Given the description of an element on the screen output the (x, y) to click on. 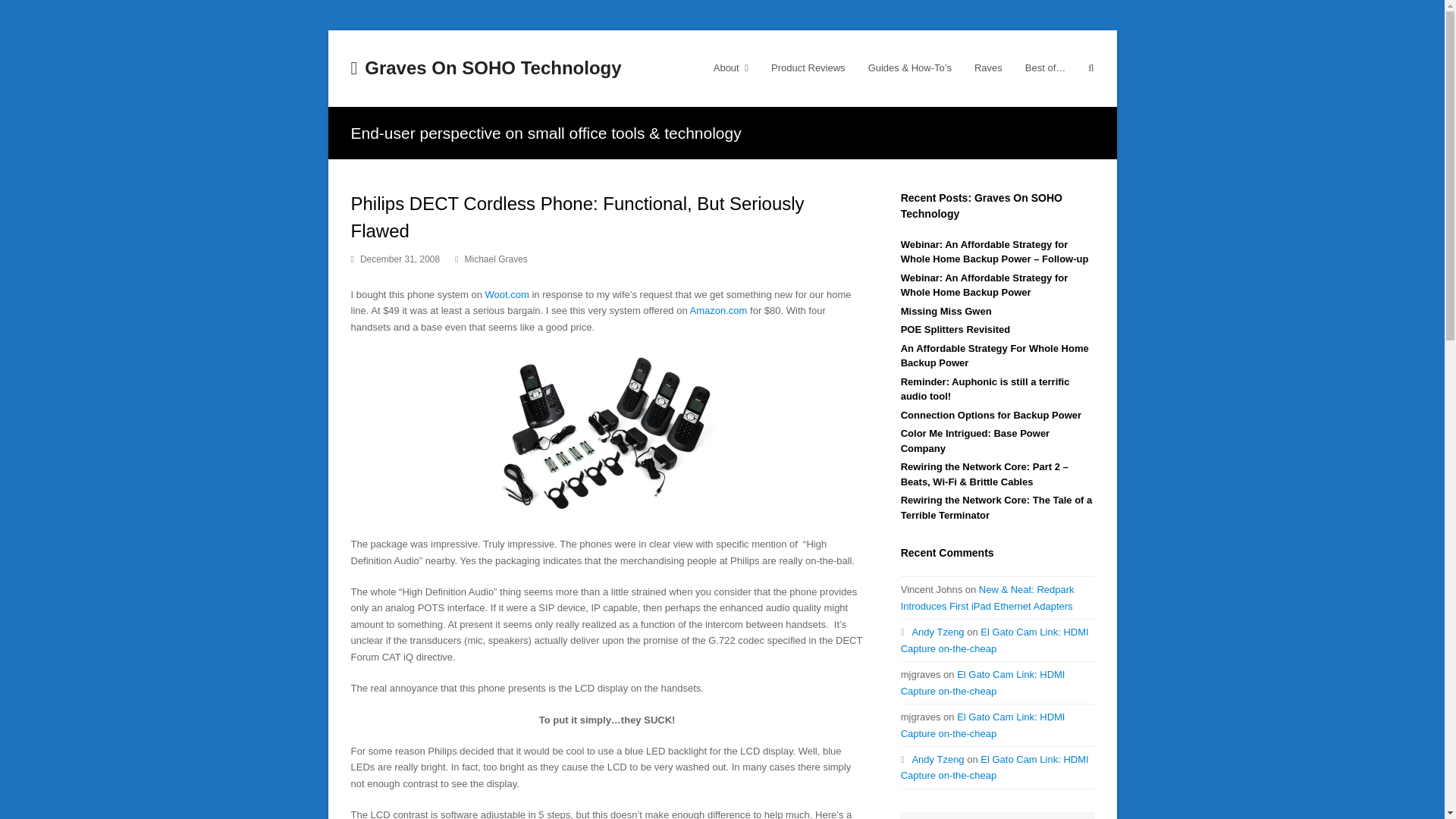
Connection Options for Backup Power (991, 414)
El Gato Cam Link: HDMI Capture on-the-cheap (983, 682)
Missing Miss Gwen (946, 310)
El Gato Cam Link: HDMI Capture on-the-cheap (995, 767)
Raves (987, 67)
Woot.com (506, 294)
Graves On SOHO Technology (485, 67)
About (730, 67)
El Gato Cam Link: HDMI Capture on-the-cheap (983, 724)
Michael Graves (495, 258)
